Given the description of an element on the screen output the (x, y) to click on. 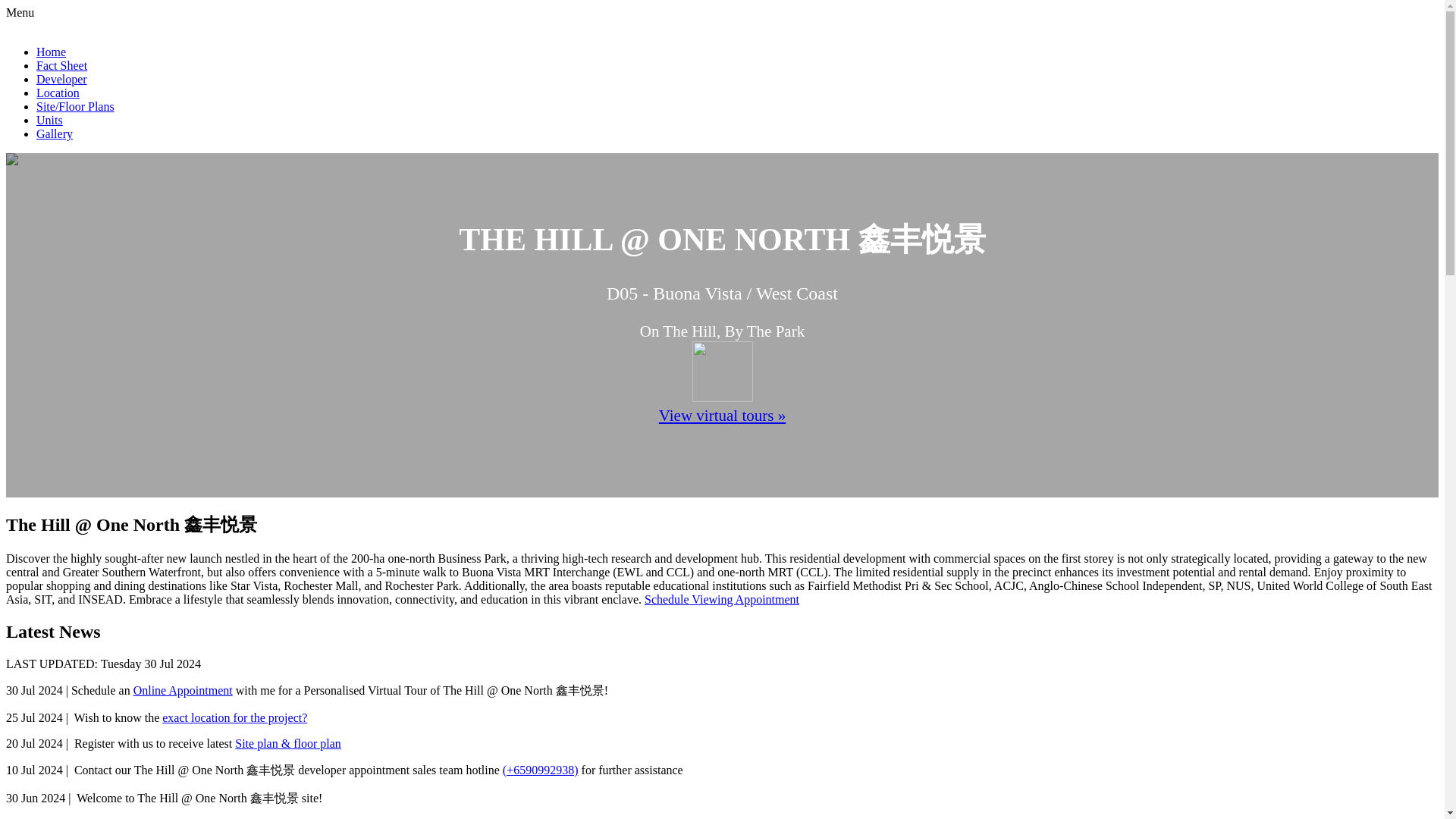
Online Appointment (182, 689)
Schedule Viewing Appointment (722, 599)
exact location for the project? (234, 717)
